Given the description of an element on the screen output the (x, y) to click on. 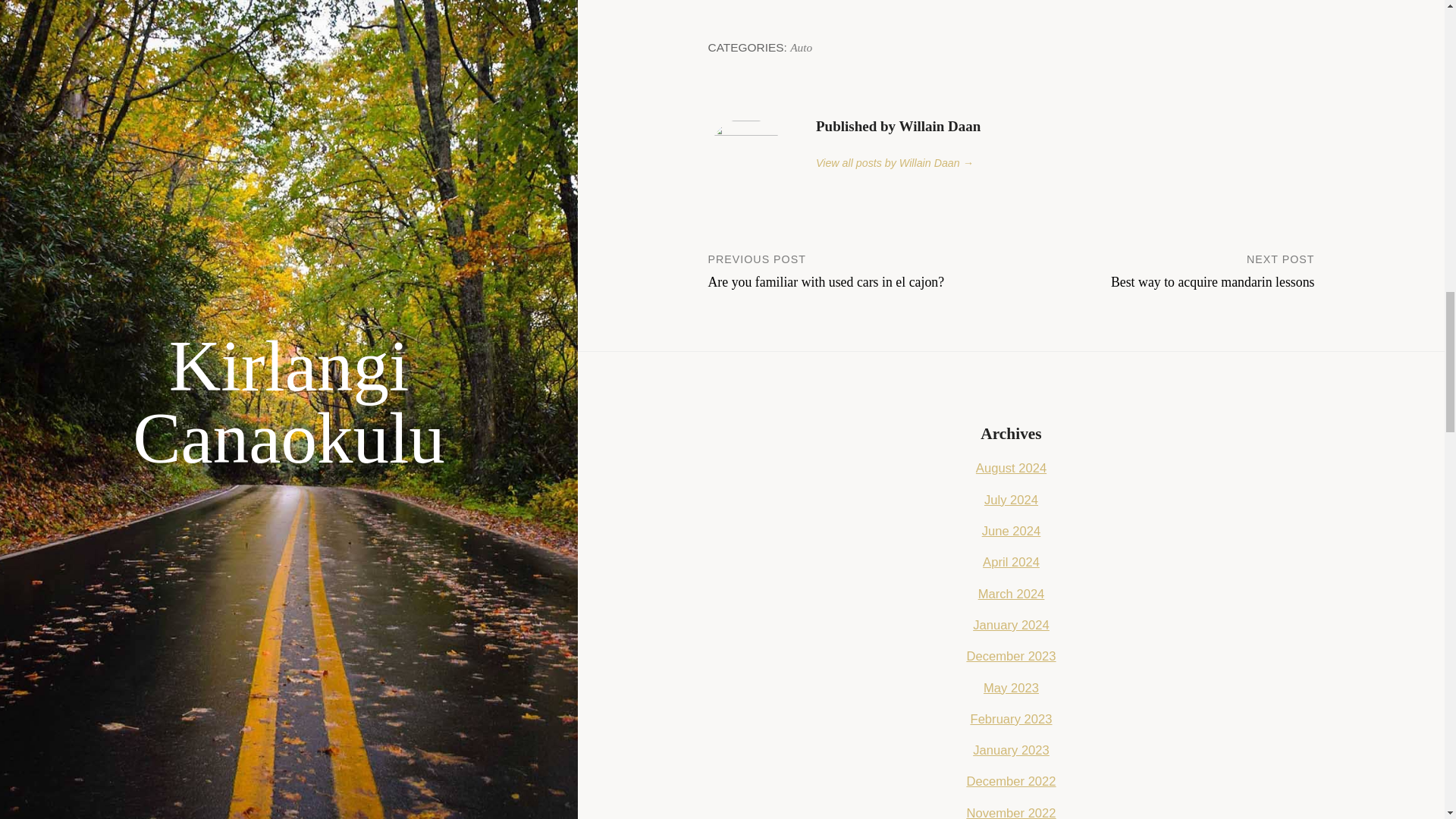
April 2024 (1010, 562)
November 2022 (1010, 812)
May 2023 (1011, 687)
December 2023 (1010, 656)
January 2024 (1010, 625)
August 2024 (1162, 270)
March 2024 (859, 270)
July 2024 (1010, 468)
